Given the description of an element on the screen output the (x, y) to click on. 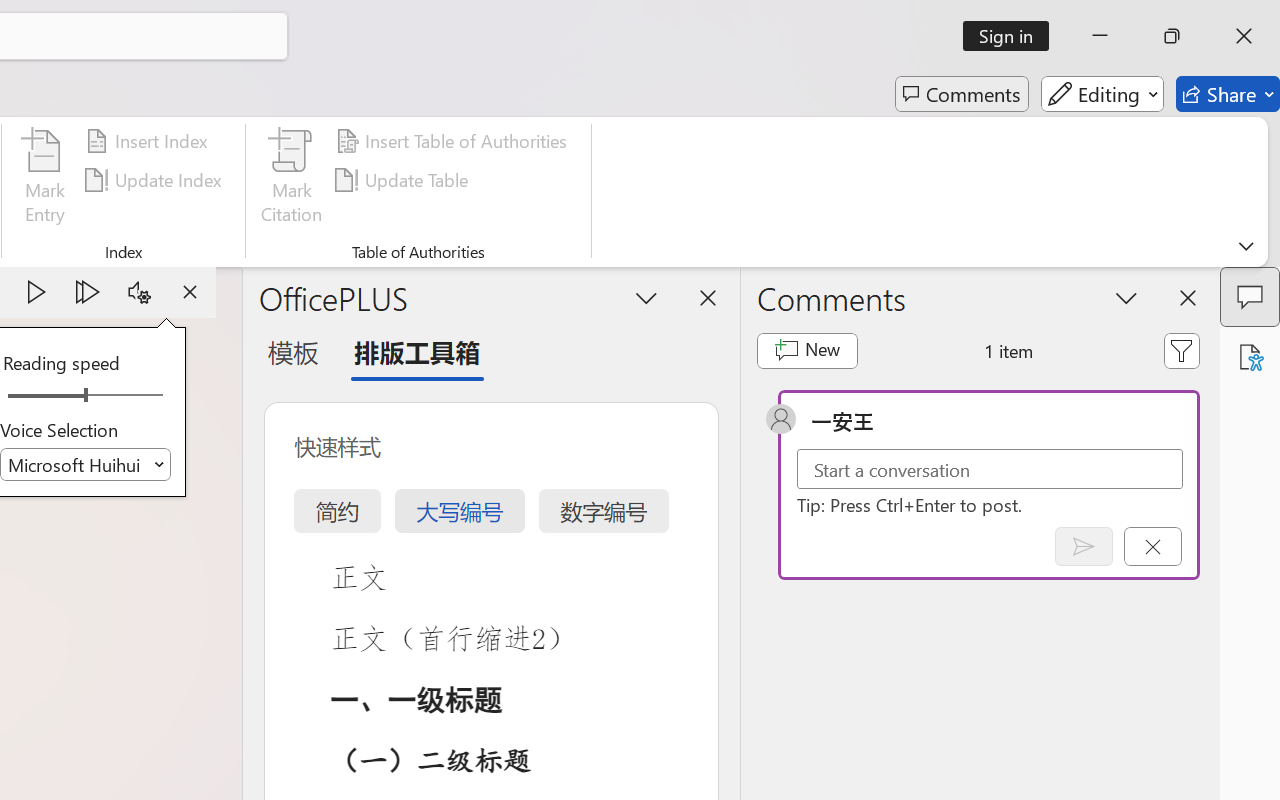
Update Index (156, 179)
Voice Selection (85, 464)
Settings (139, 292)
New comment (806, 350)
Mark Entry... (44, 179)
Post comment (Ctrl + Enter) (1083, 546)
